Given the description of an element on the screen output the (x, y) to click on. 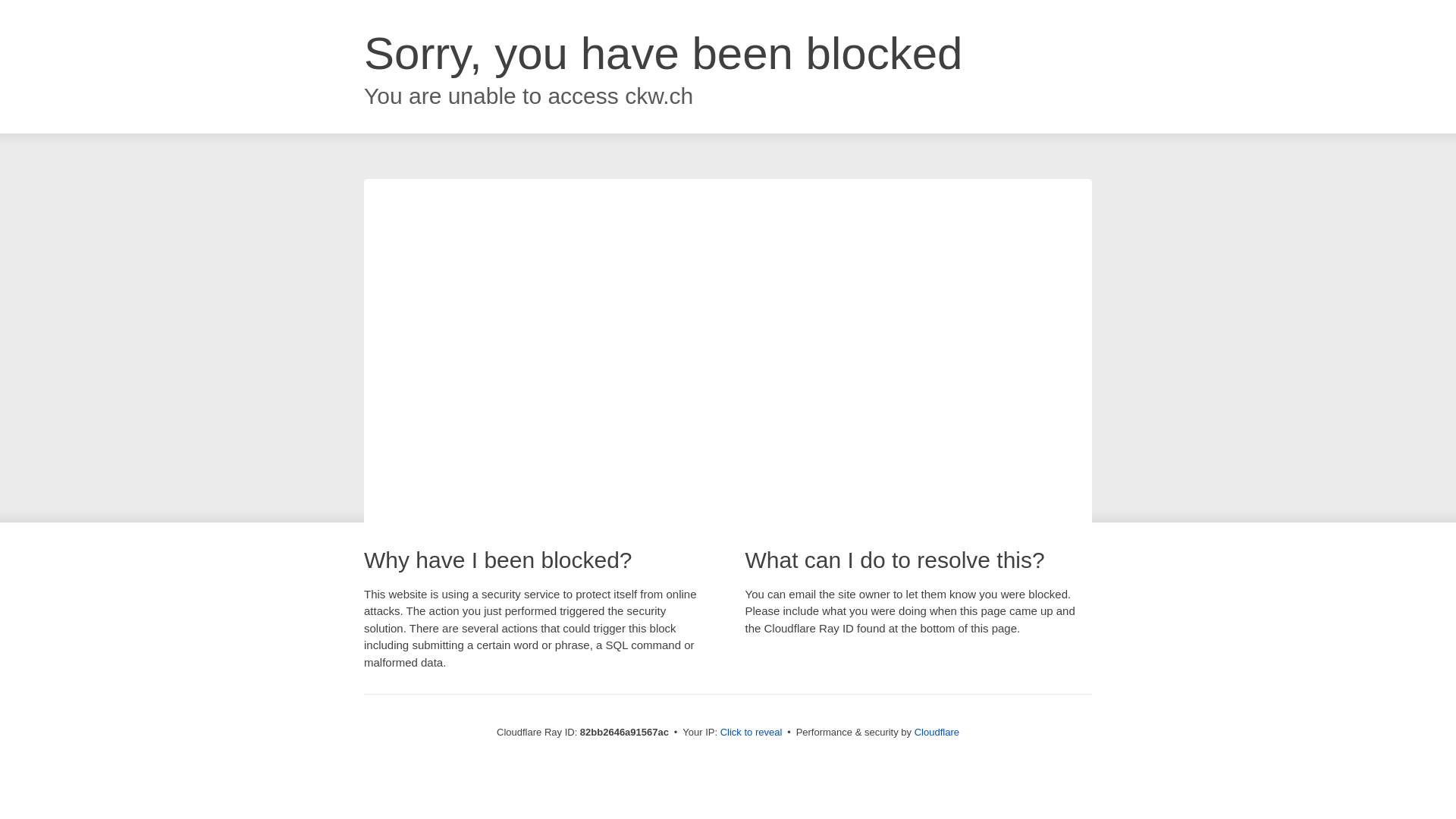
Click to reveal Element type: text (751, 732)
Cloudflare Element type: text (936, 731)
